Given the description of an element on the screen output the (x, y) to click on. 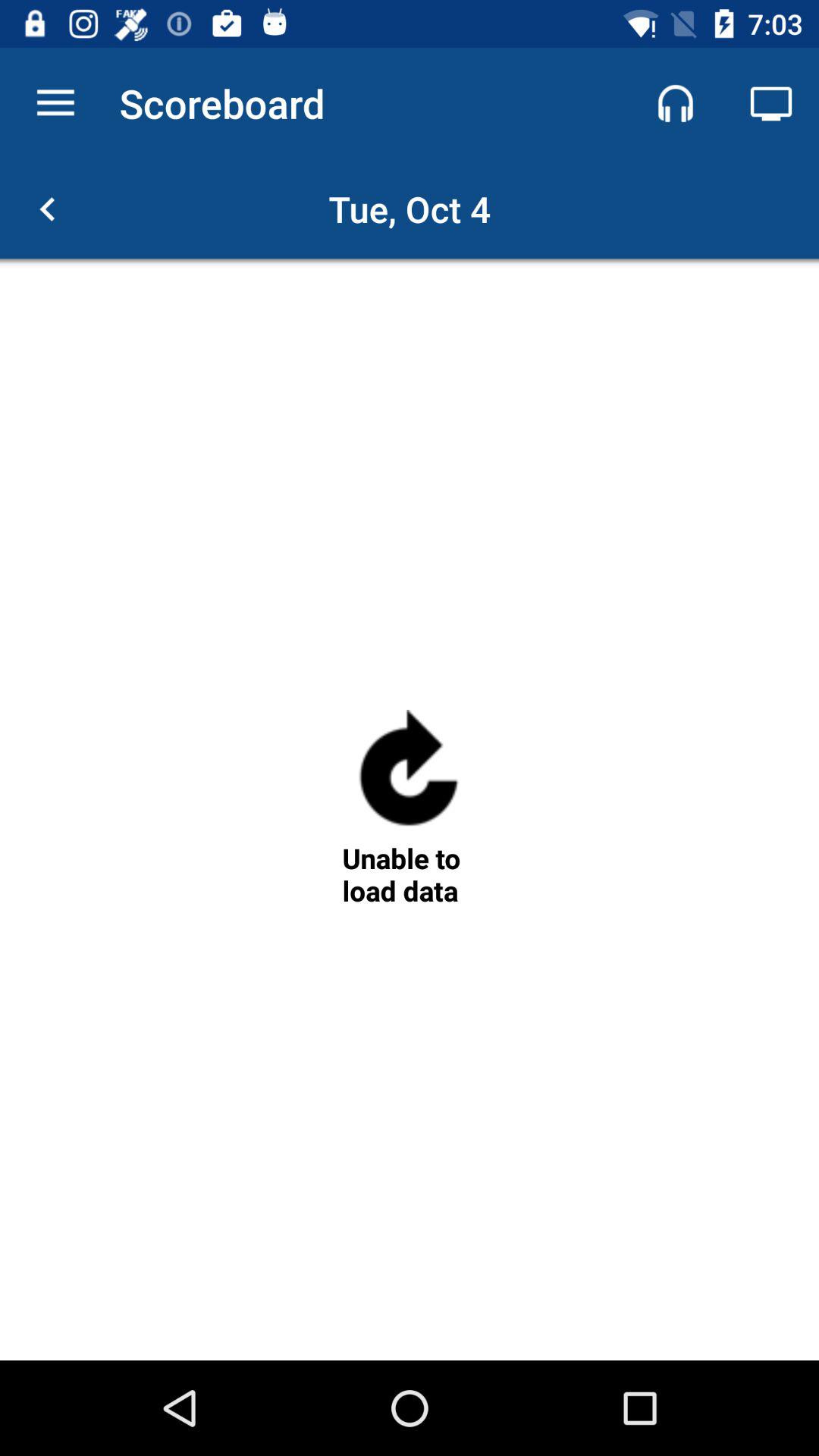
reload (408, 774)
